Given the description of an element on the screen output the (x, y) to click on. 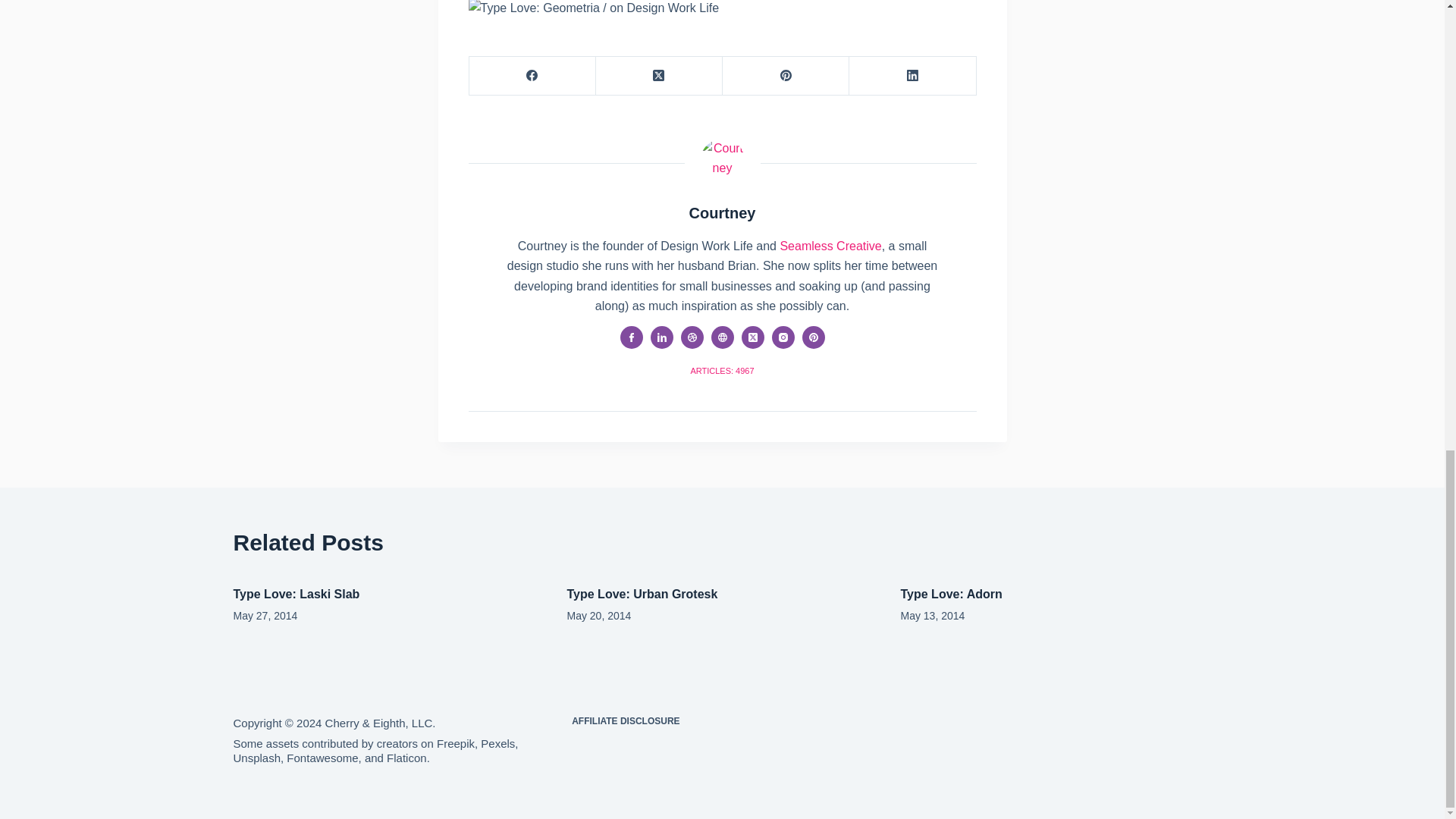
Type Love: Urban Grotesk (642, 594)
Seamless Creative (829, 245)
Type Love: Adorn (952, 594)
ARTICLES: 4967 (722, 370)
Type Love: Laski Slab (295, 594)
